Given the description of an element on the screen output the (x, y) to click on. 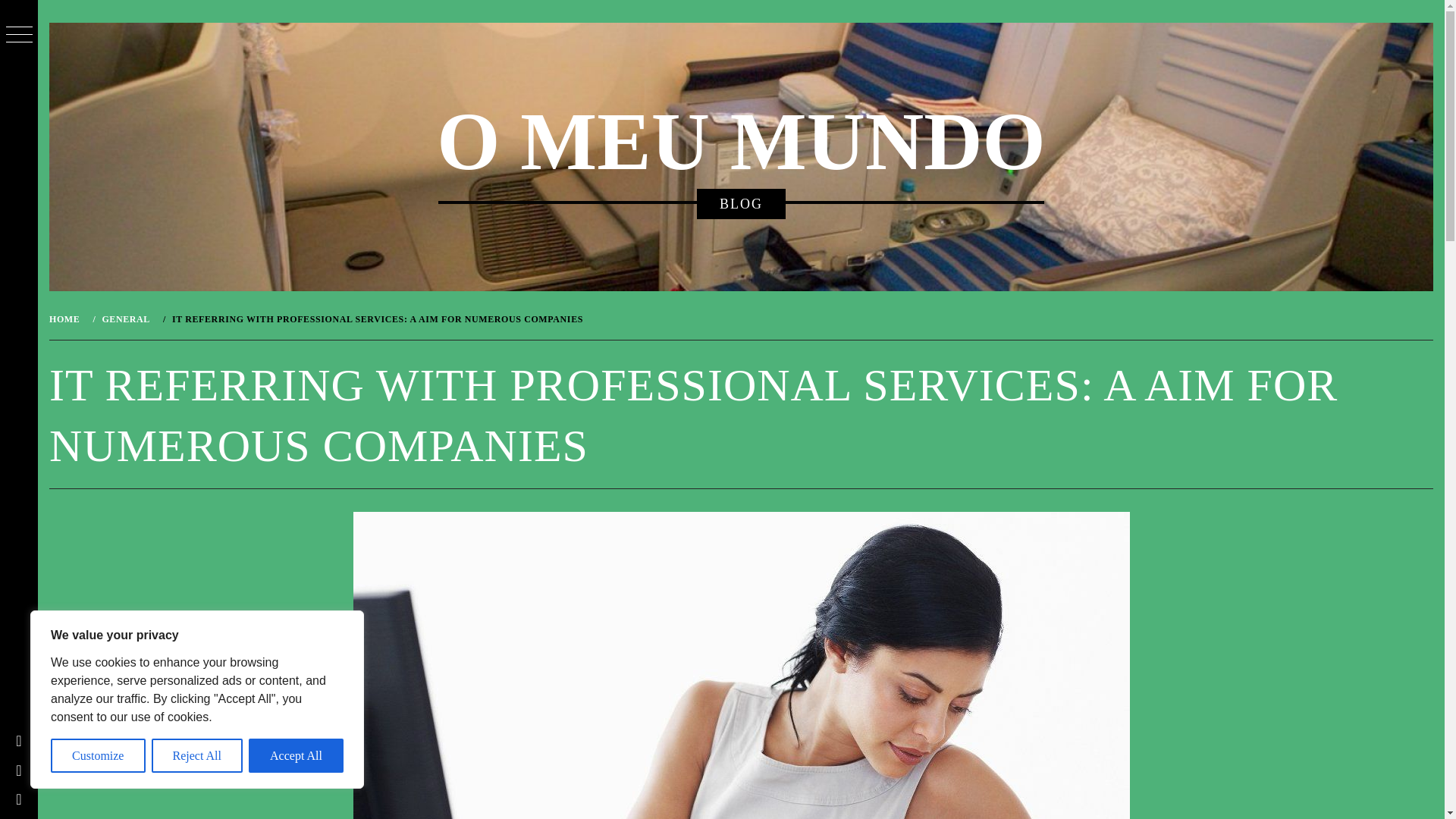
HOME (66, 318)
Reject All (197, 755)
O MEU MUNDO (740, 141)
GENERAL (124, 318)
Customize (97, 755)
Accept All (295, 755)
